Given the description of an element on the screen output the (x, y) to click on. 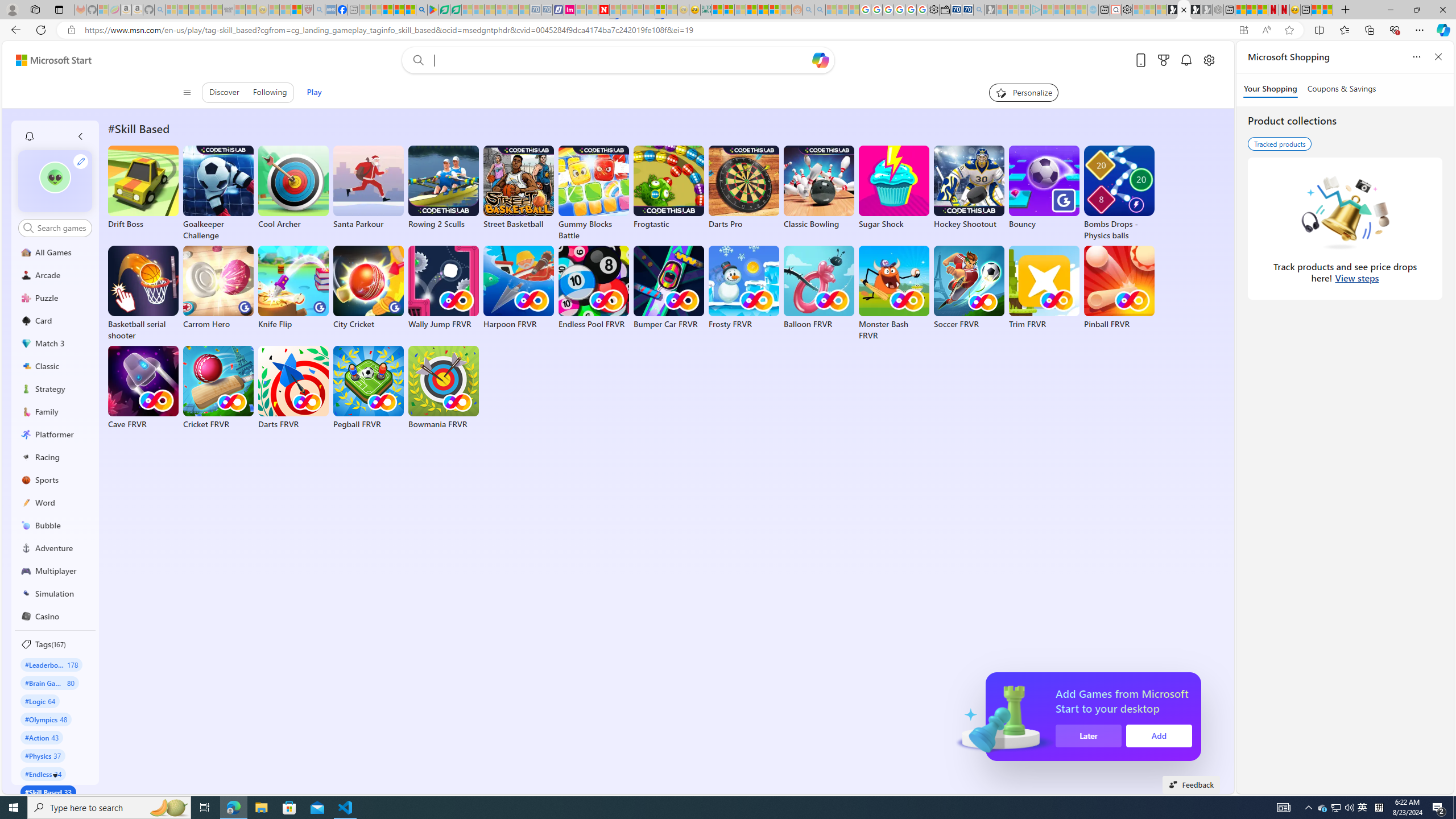
AutomationID: control (61, 227)
Pets - MSN (398, 9)
Monster Bash FRVR (893, 293)
Frosty FRVR (743, 287)
Pegball FRVR (368, 387)
